Given the description of an element on the screen output the (x, y) to click on. 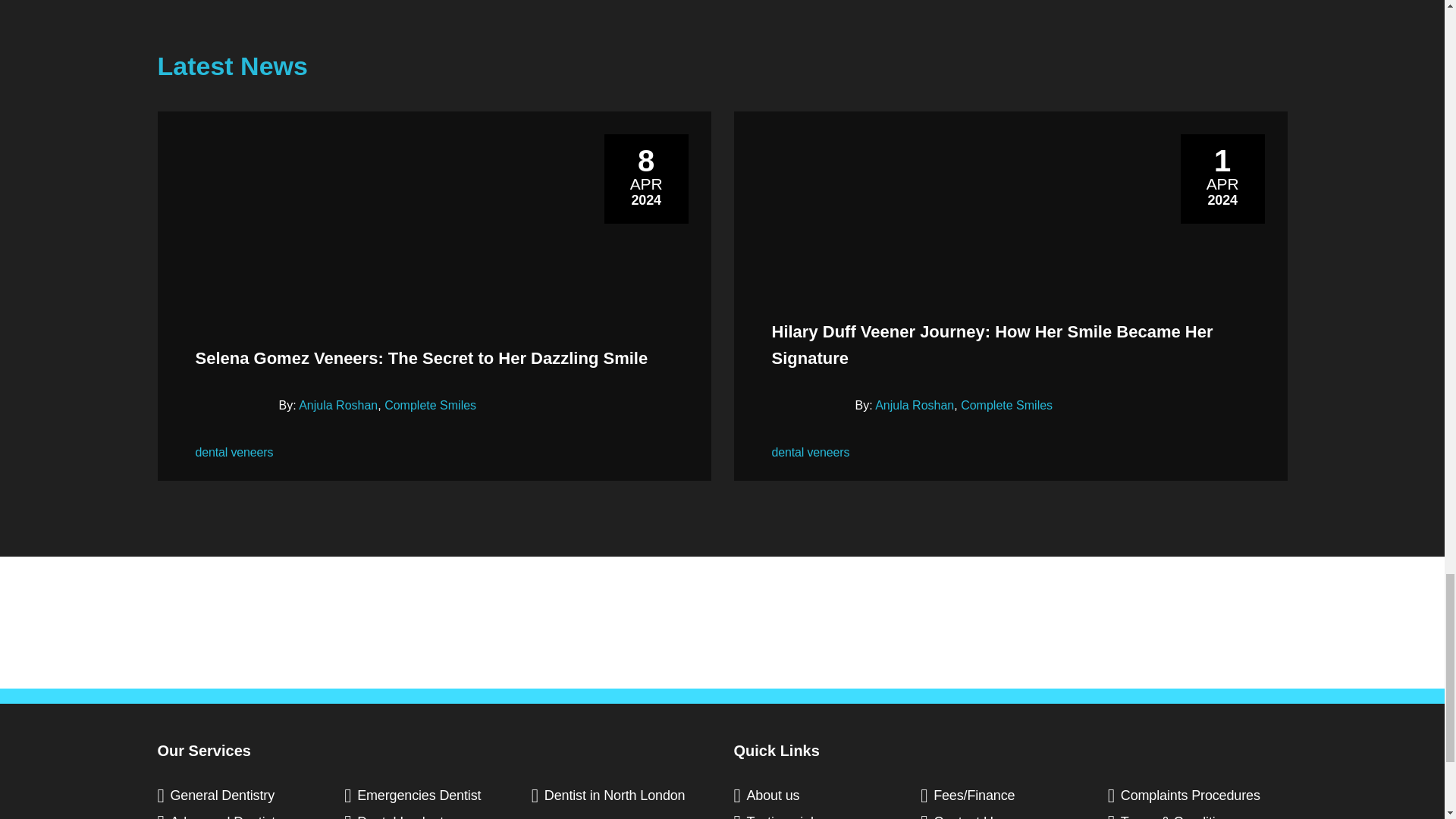
Posts by Anjula Roshan (337, 404)
Posts by Anjula Roshan (914, 404)
Posts by Complete Smiles (430, 404)
Posts by Complete Smiles (1006, 404)
